Given the description of an element on the screen output the (x, y) to click on. 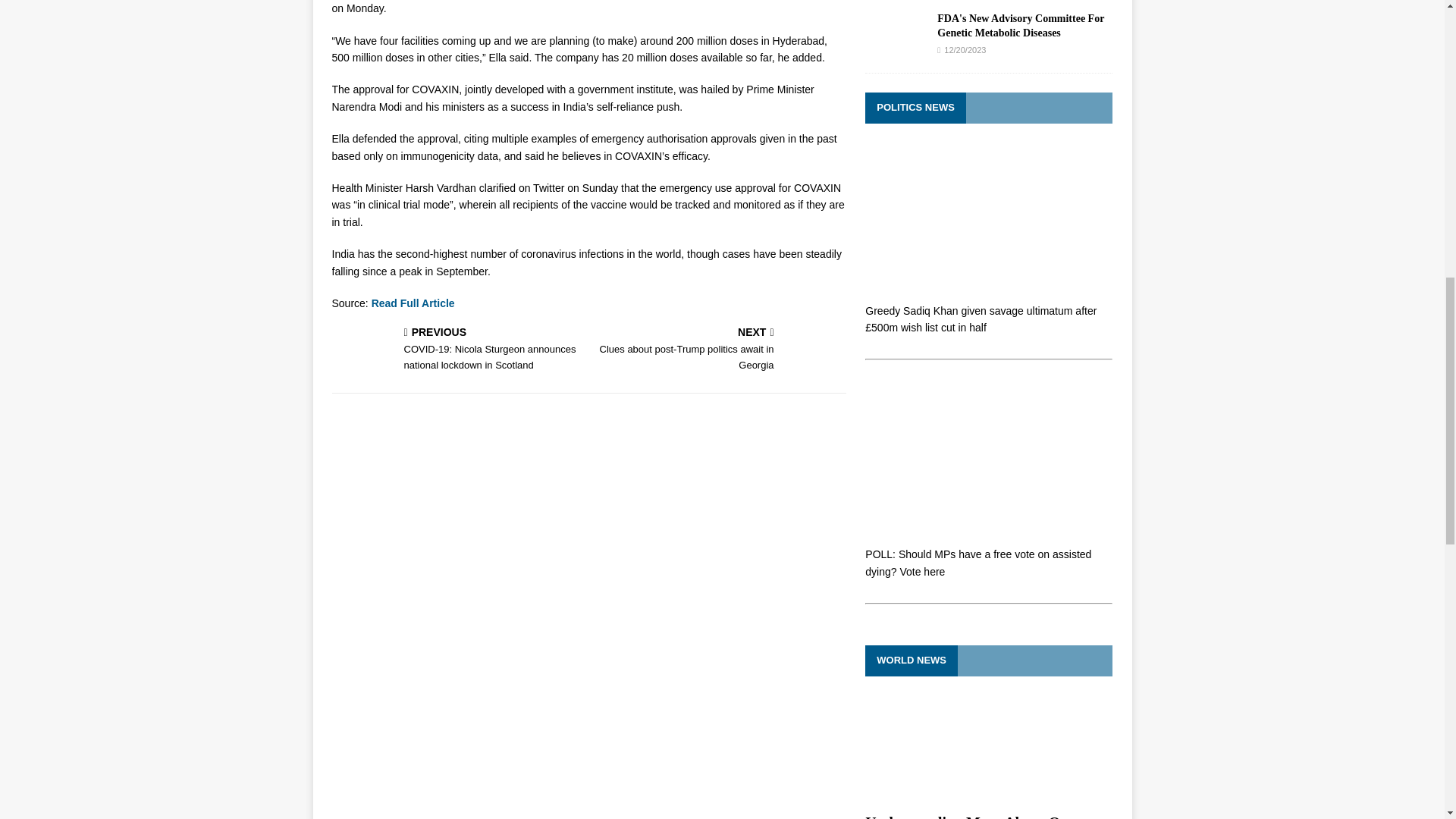
FDA's New Advisory Committee For Genetic Metabolic Diseases (1020, 25)
Understanding More About Quest Room Platform (975, 816)
FDA's New Advisory Committee For Genetic Metabolic Diseases (895, 49)
FDA's New Advisory Committee For Genetic Metabolic Diseases (720, 349)
Understanding More About Quest Room Platform (1020, 25)
